Given the description of an element on the screen output the (x, y) to click on. 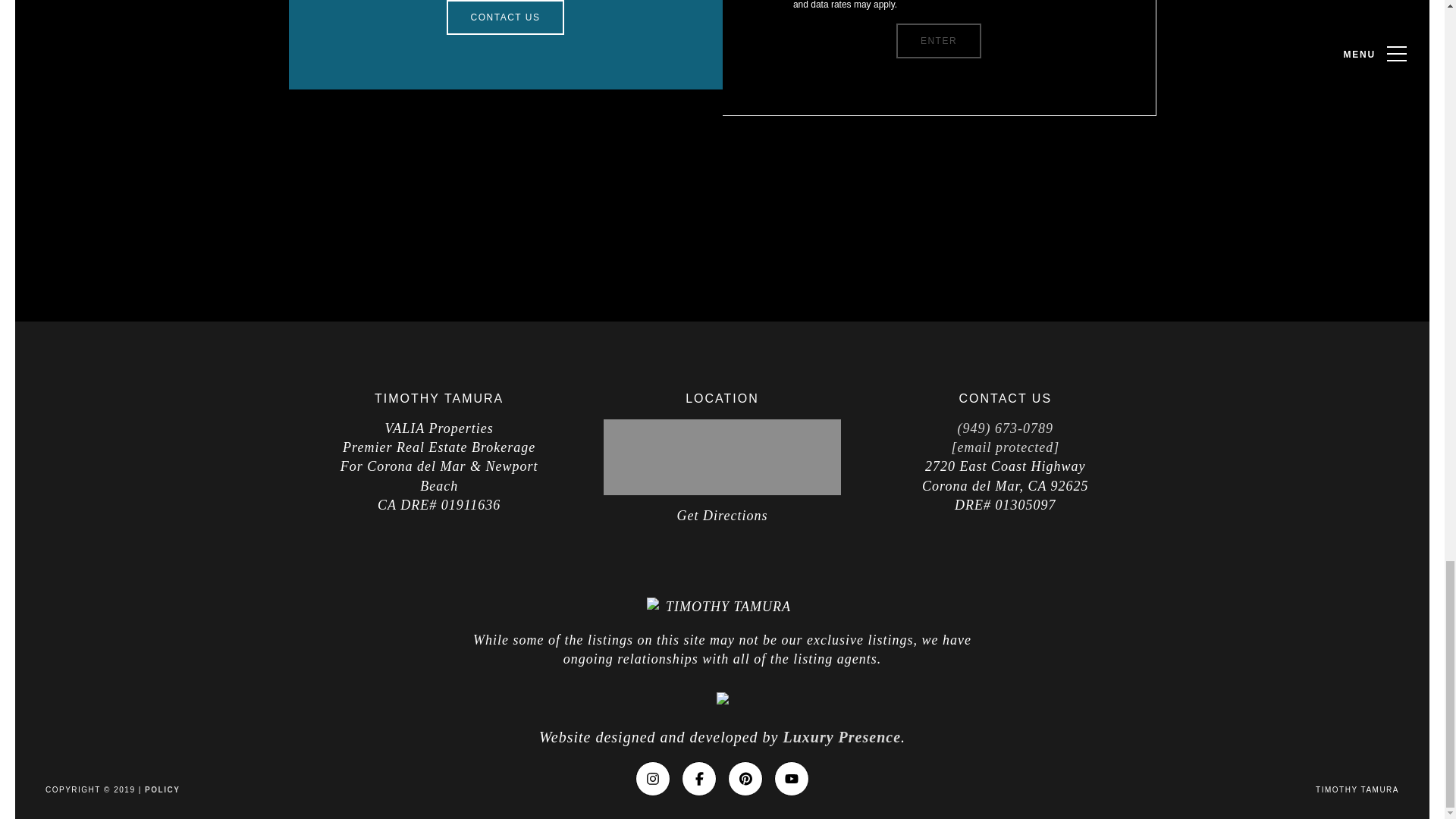
ENTER (938, 40)
CONTACT US (505, 17)
Get Directions (722, 515)
